Given the description of an element on the screen output the (x, y) to click on. 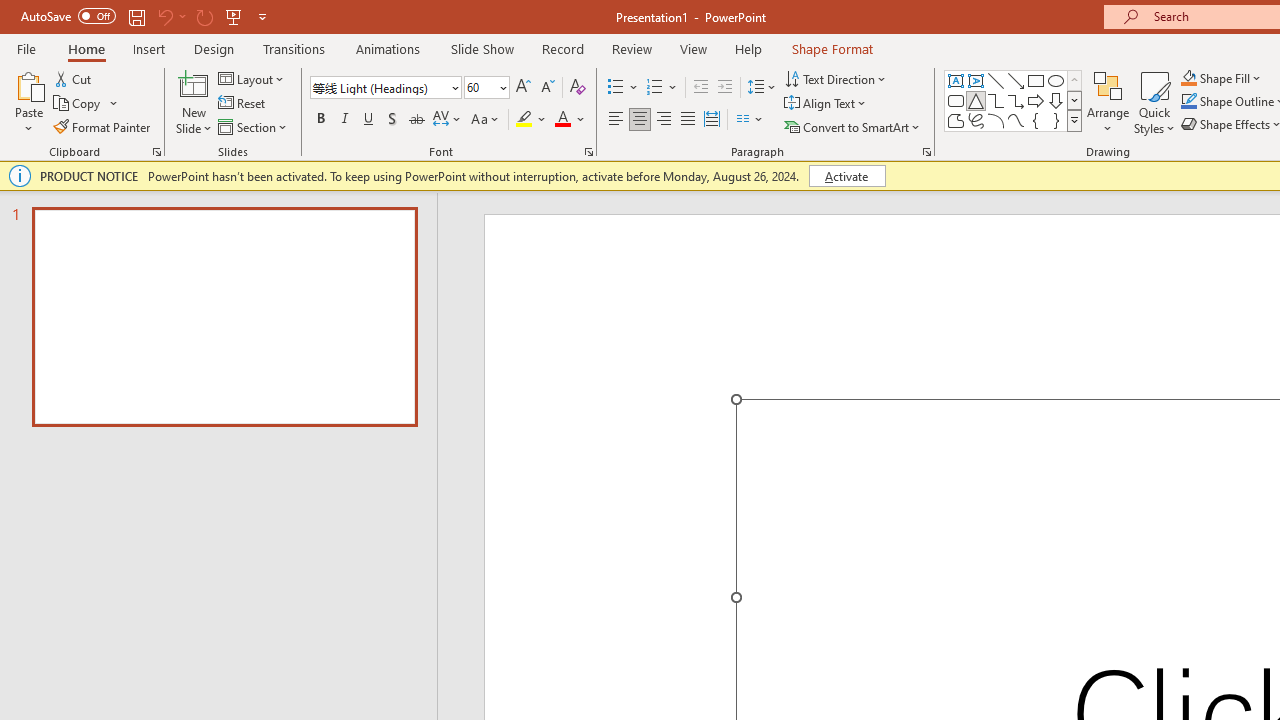
Shape Outline Dark Red, Accent 1 (1188, 101)
Activate (846, 175)
